Given the description of an element on the screen output the (x, y) to click on. 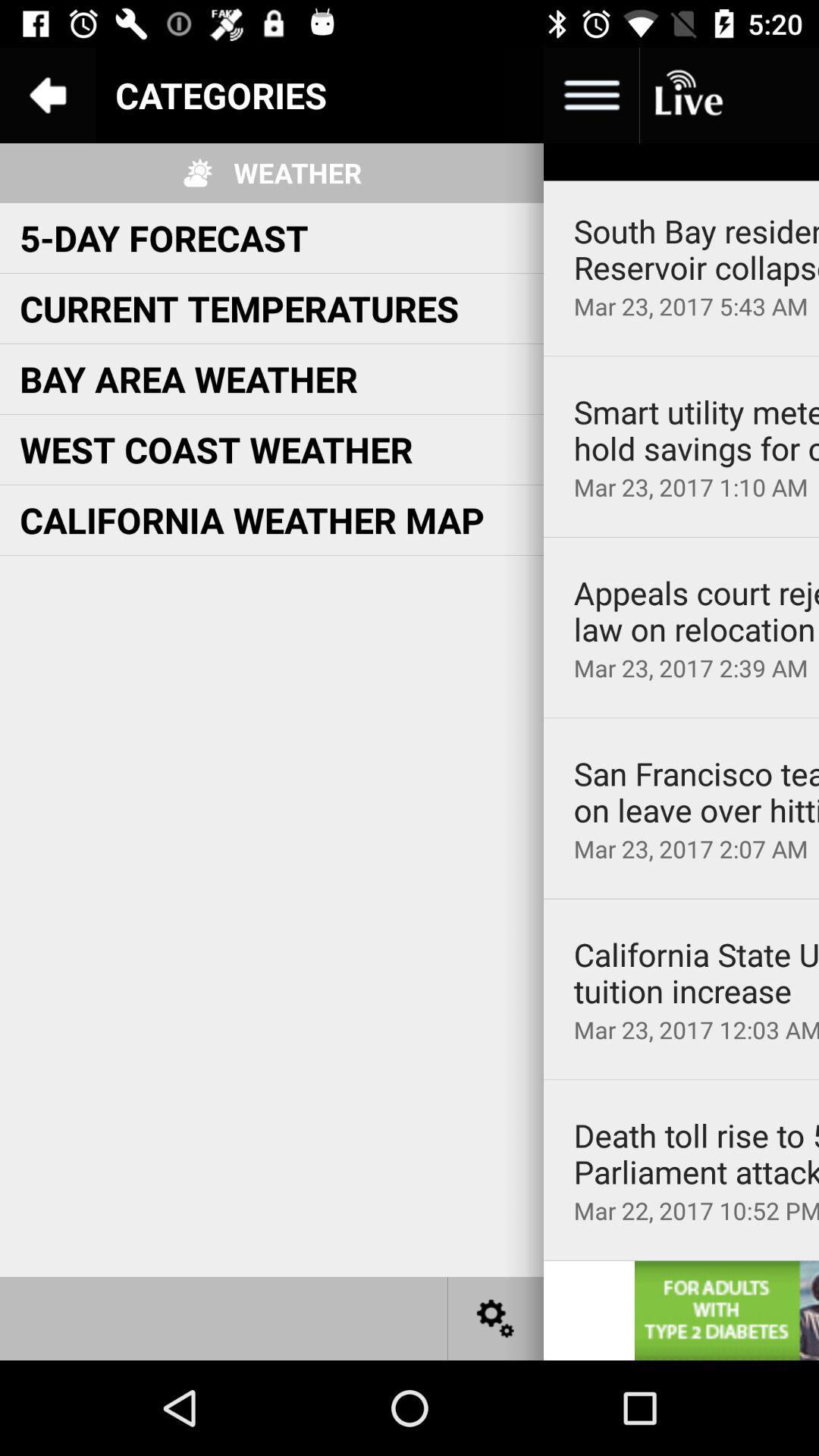
setting button (495, 1318)
